Given the description of an element on the screen output the (x, y) to click on. 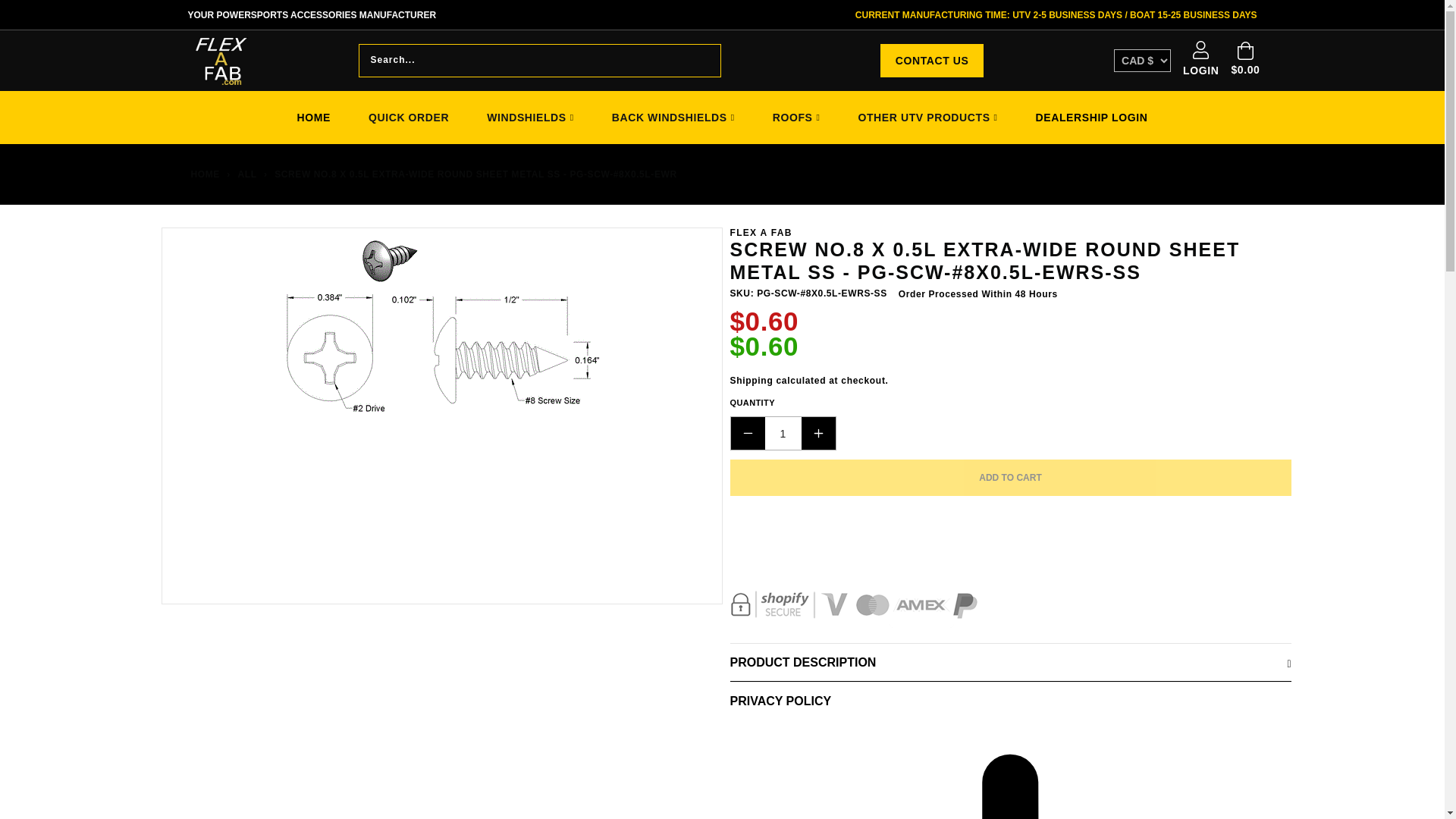
LOGIN (1200, 60)
CONTACT US (932, 60)
Home (203, 173)
DEALERSHIP LOGIN (1091, 117)
QUICK ORDER (408, 117)
1 (782, 432)
HOME (313, 117)
